Given the description of an element on the screen output the (x, y) to click on. 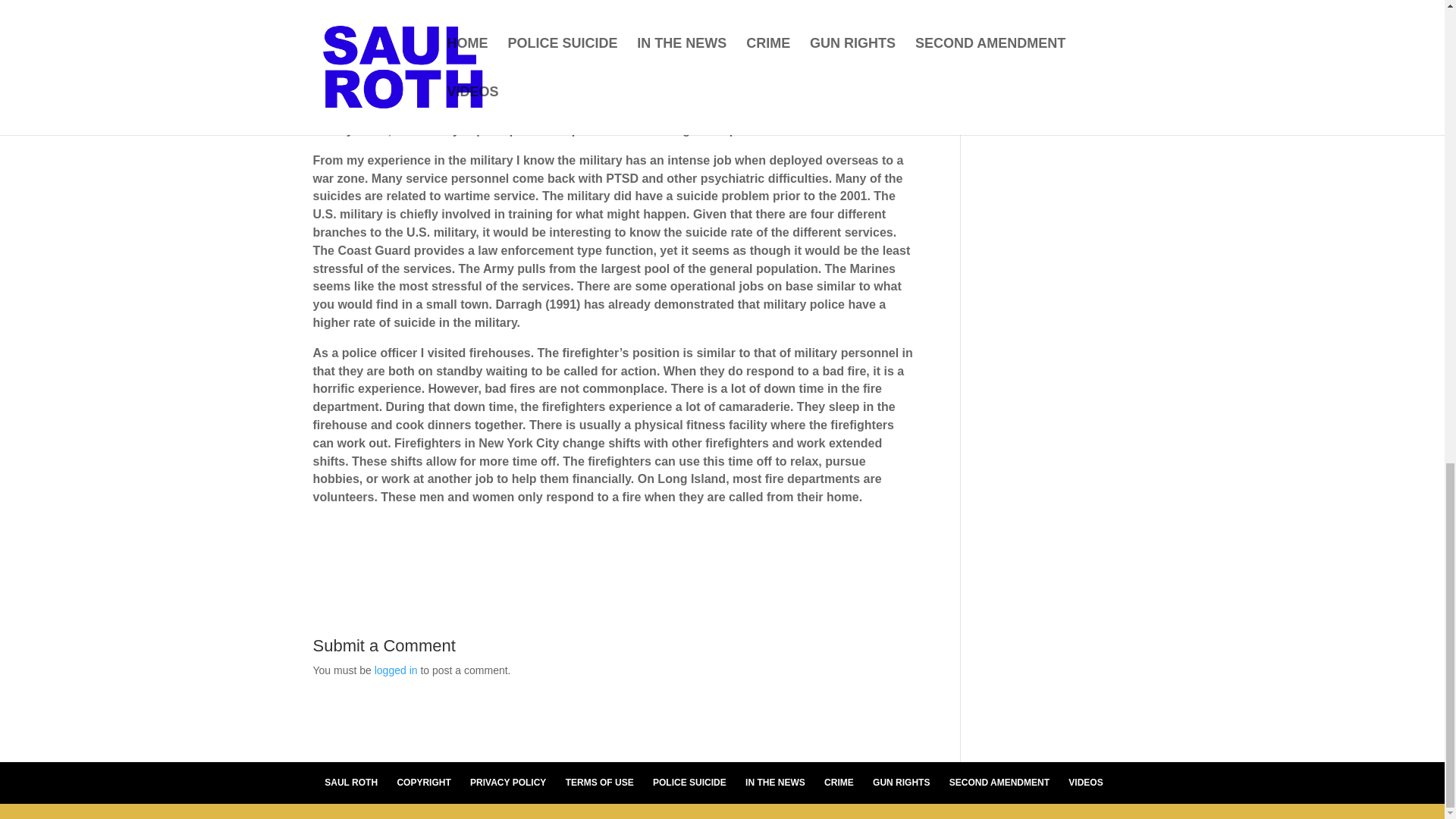
VIDEOS (1085, 782)
CRIME (838, 782)
IN THE NEWS (775, 782)
PRIVACY POLICY (508, 782)
GUN RIGHTS (901, 782)
COPYRIGHT (422, 782)
SAUL ROTH (350, 782)
logged in (395, 670)
TERMS OF USE (599, 782)
POLICE SUICIDE (689, 782)
